Given the description of an element on the screen output the (x, y) to click on. 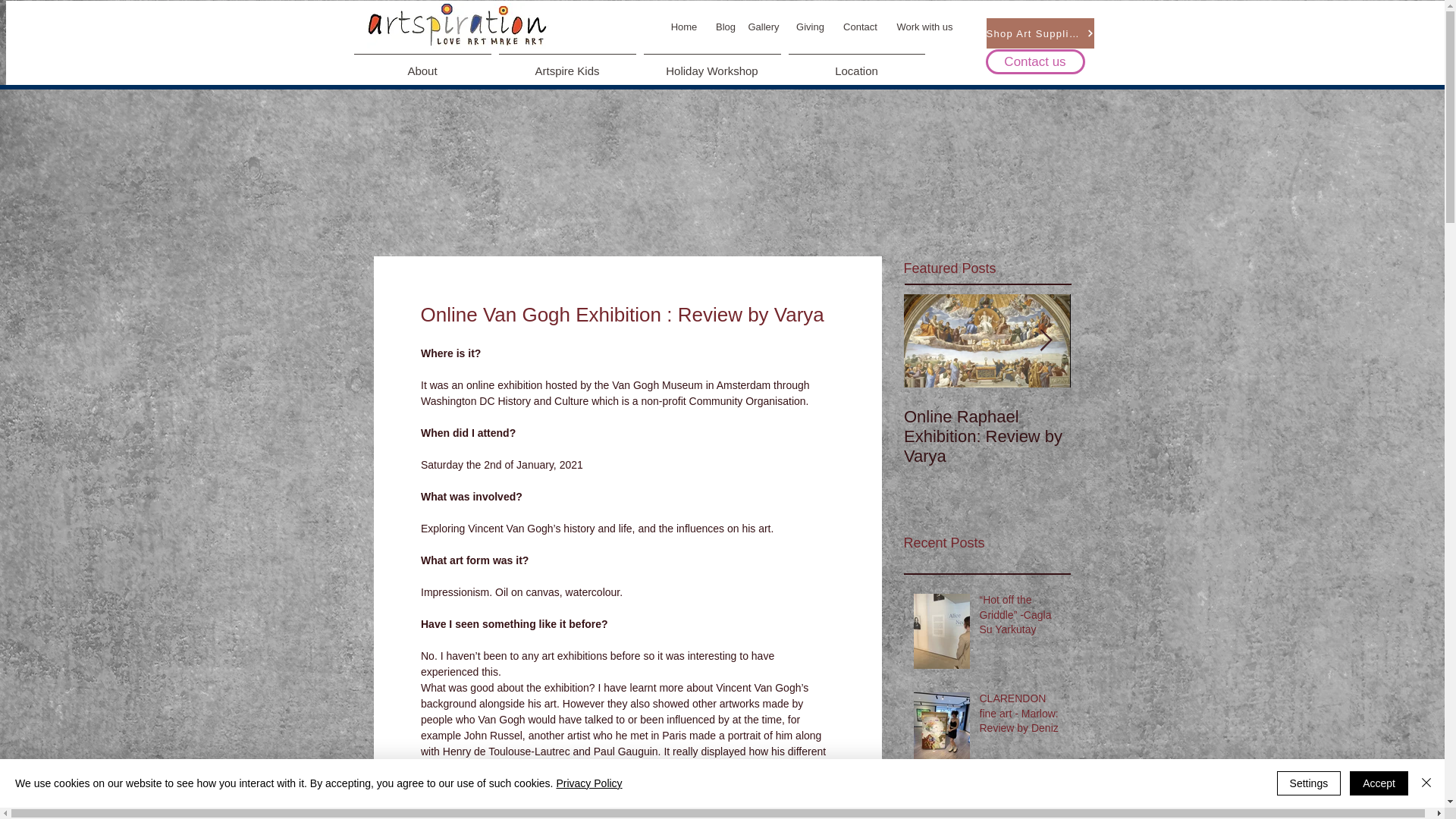
About (422, 64)
Shop Art Supplies (1039, 33)
Artspire Kids (567, 64)
Holiday Workshop (712, 64)
Gallery (763, 27)
CLARENDON fine art - Marlow: Review by Deniz (1020, 716)
Home (684, 27)
Online Raphael Exhibition: Review by Varya (987, 436)
Location (856, 64)
Tate St Ives Review - Ad Minoliti- review by Amy (1020, 804)
